Given the description of an element on the screen output the (x, y) to click on. 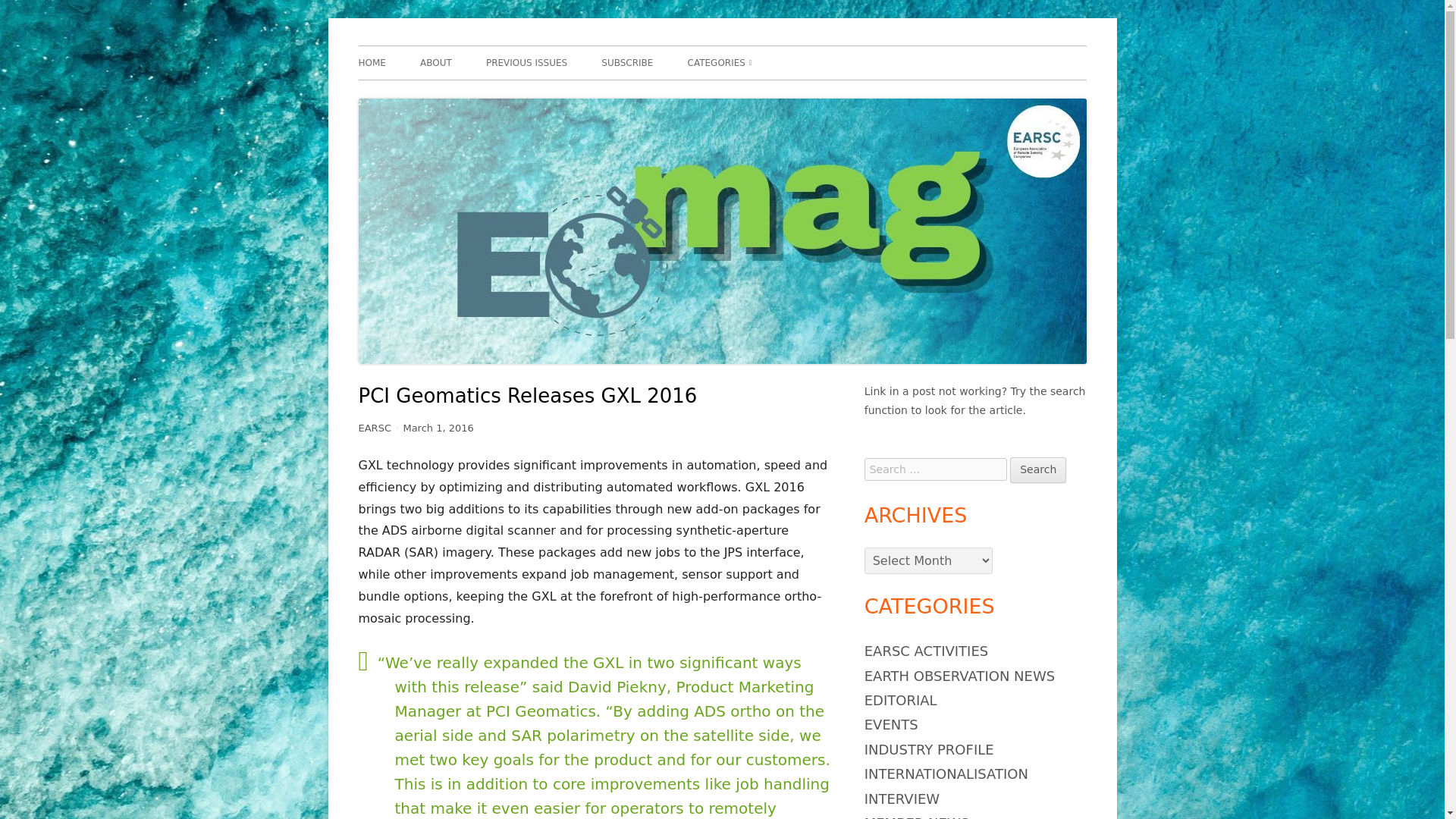
EARSC ACTIVITIES (926, 650)
EARTH OBSERVATION NEWS (959, 675)
MEMBER NEWS (916, 816)
EVENTS (891, 724)
PREVIOUS ISSUES (526, 62)
INDUSTRY PROFILE (929, 749)
Search (1037, 470)
March 1, 2016 (438, 428)
Search (1037, 470)
SUBSCRIBE (626, 62)
